Given the description of an element on the screen output the (x, y) to click on. 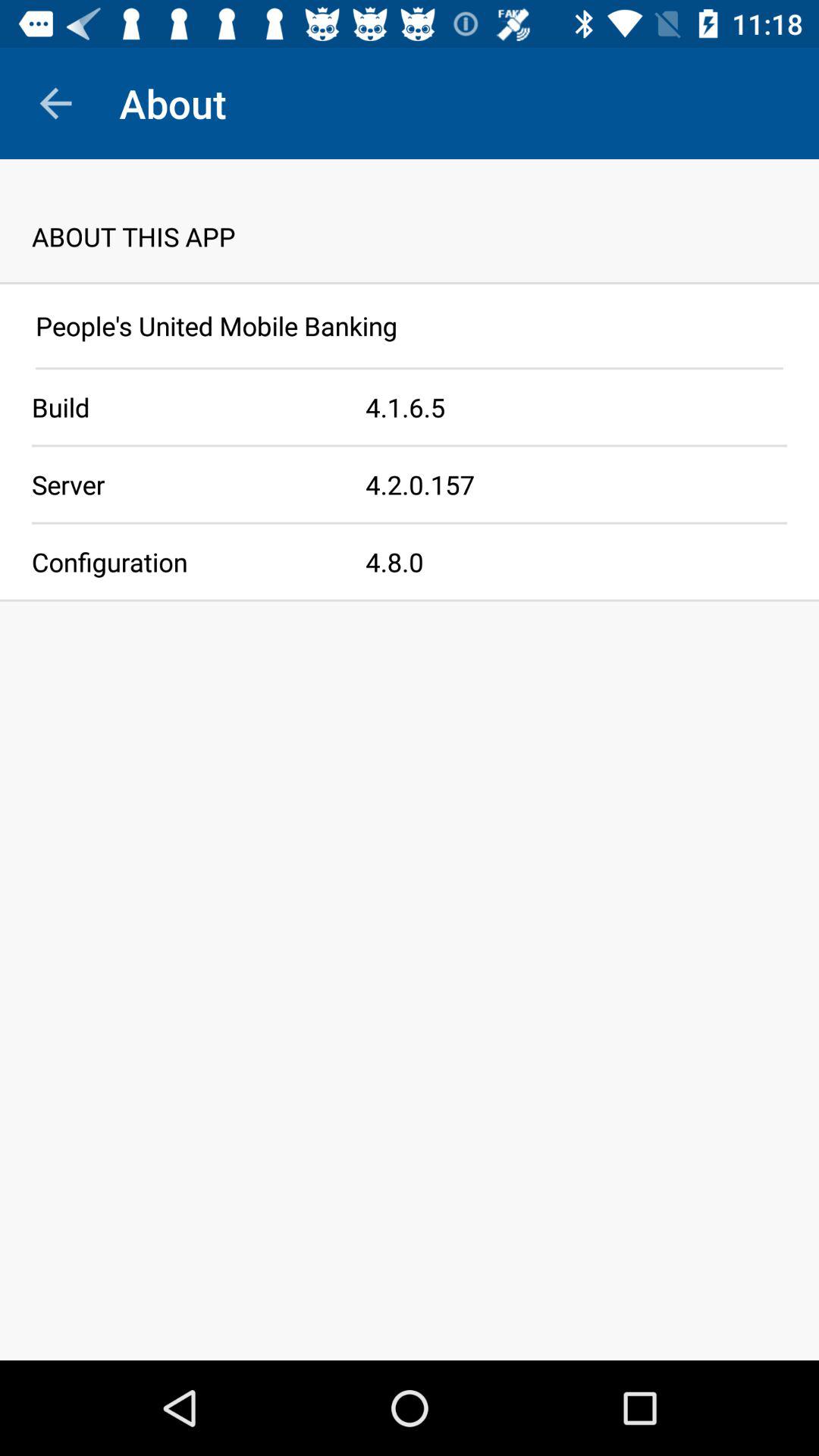
choose the item next to about item (55, 103)
